Given the description of an element on the screen output the (x, y) to click on. 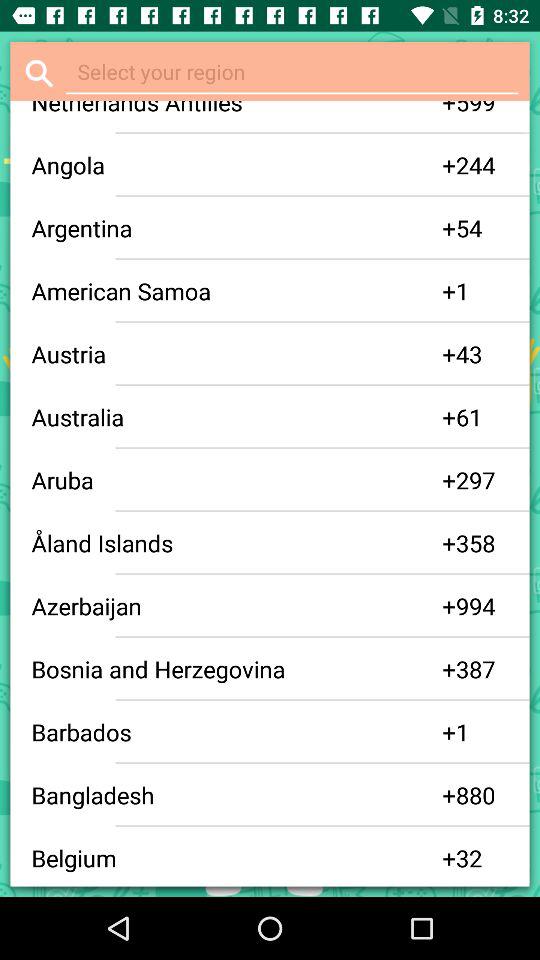
turn off icon to the left of the + item (236, 480)
